Given the description of an element on the screen output the (x, y) to click on. 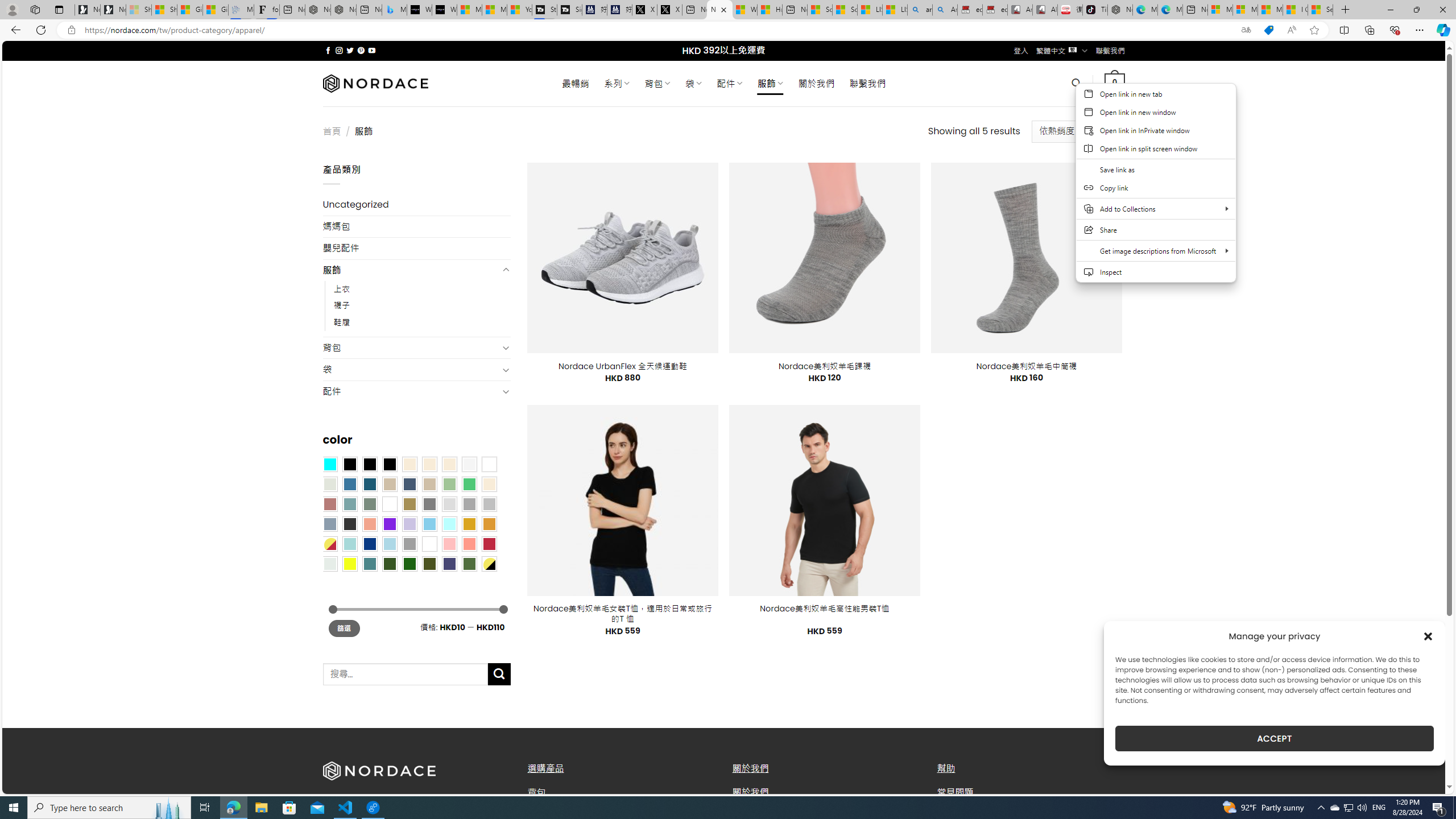
Web context (1155, 182)
All Cubot phones (1044, 9)
Nordace - Best Sellers (1119, 9)
Microsoft Bing Travel - Shangri-La Hotel Bangkok (394, 9)
